Given the description of an element on the screen output the (x, y) to click on. 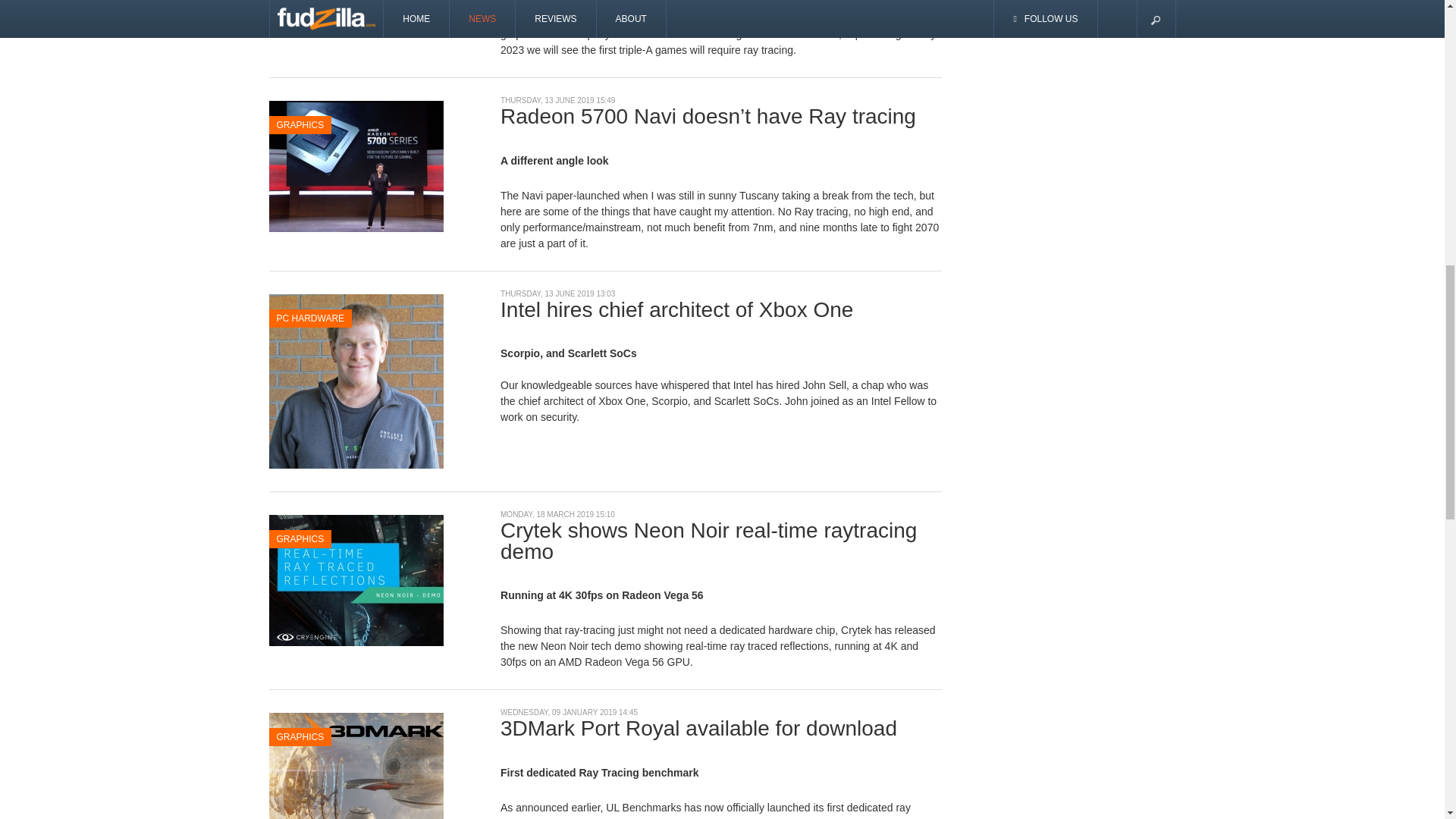
Crytek shows Neon Noir real-time raytracing demo (354, 579)
3DMark Port Royal available for download (354, 776)
Intel hires chief architect of Xbox One (354, 379)
